Given the description of an element on the screen output the (x, y) to click on. 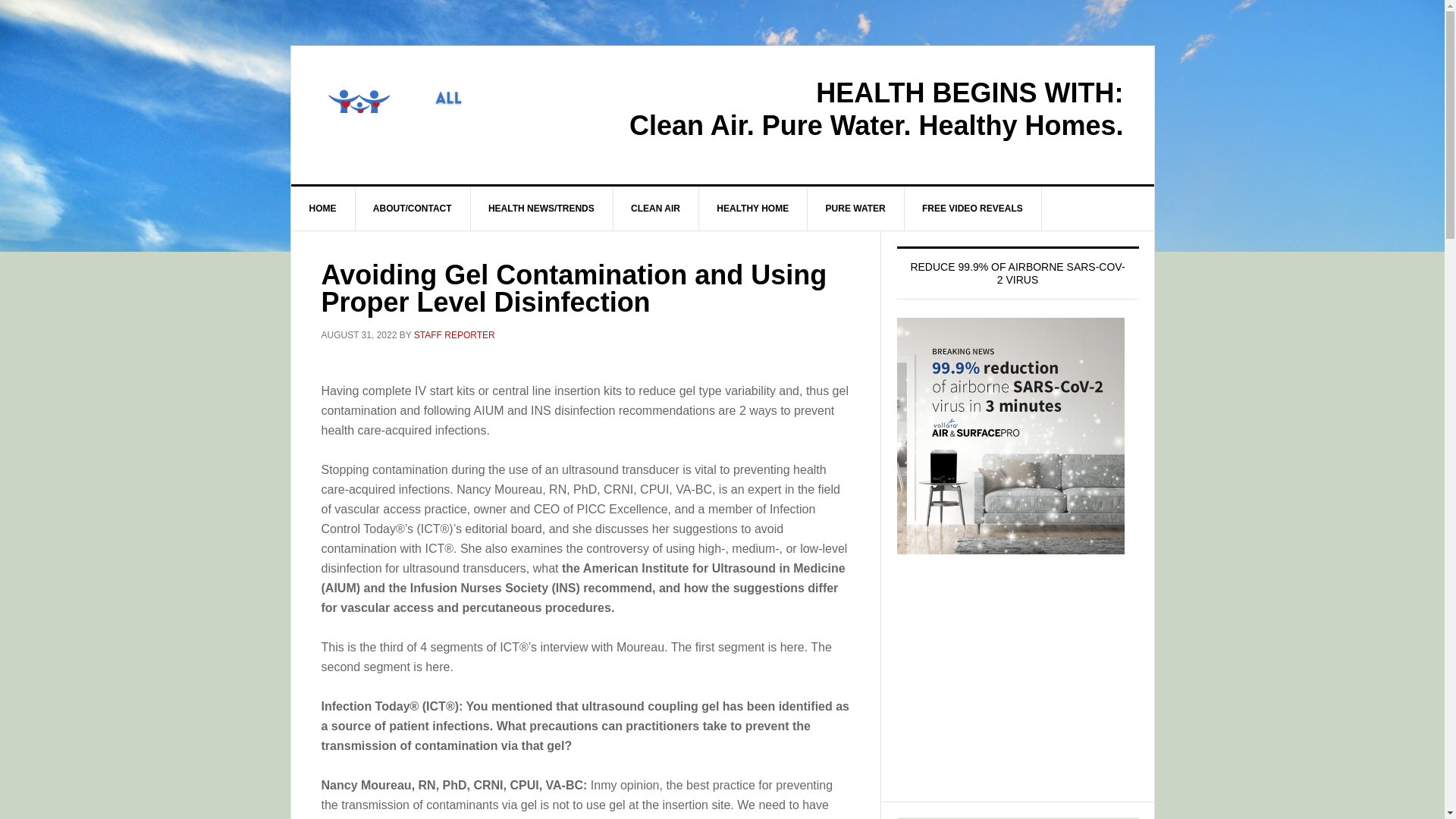
FREE VIDEO REVEALS (973, 208)
PURE WATER (856, 208)
HEALTHY HOME (753, 208)
Advertisement (1017, 691)
ALL HEALTHY NEWS (419, 110)
HOME (323, 208)
STAFF REPORTER (454, 335)
CLEAN AIR (655, 208)
